Given the description of an element on the screen output the (x, y) to click on. 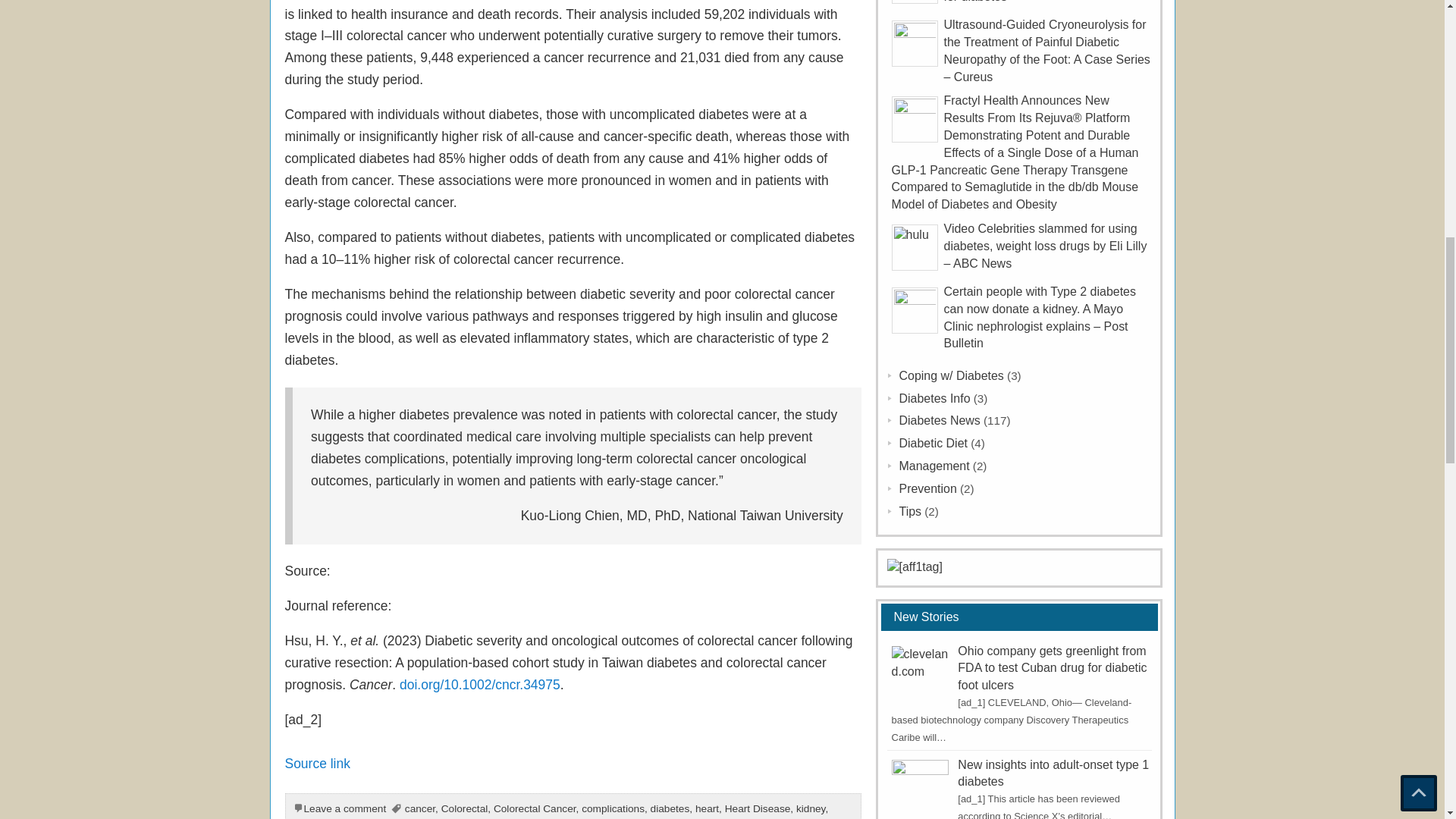
Leave a comment (343, 808)
complications (612, 808)
Source link (317, 763)
Colorectal (464, 808)
diabetes (670, 808)
Heart Disease (757, 808)
heart (707, 808)
cancer (419, 808)
Colorectal Cancer (534, 808)
